Given the description of an element on the screen output the (x, y) to click on. 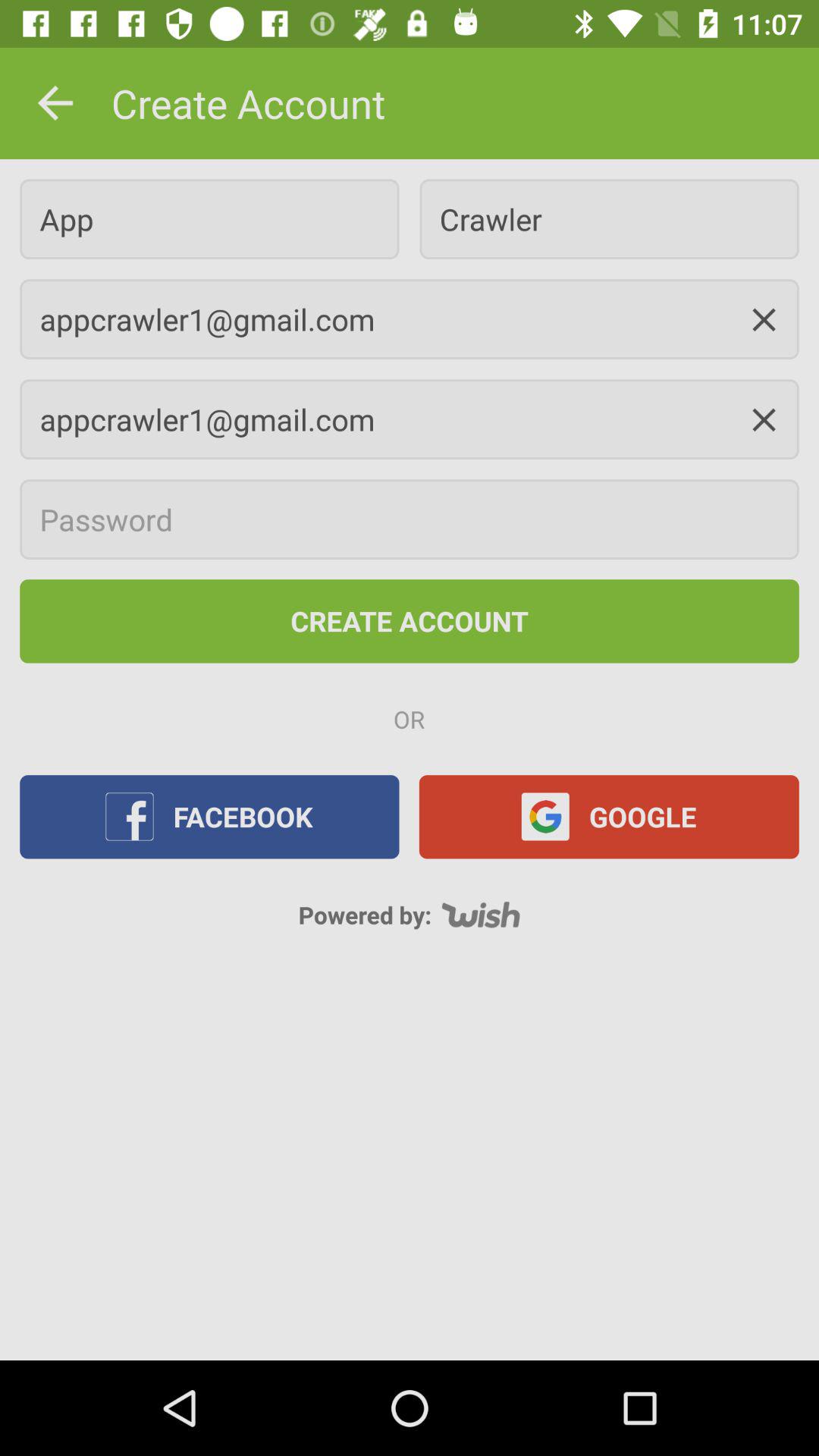
press app icon (209, 219)
